Given the description of an element on the screen output the (x, y) to click on. 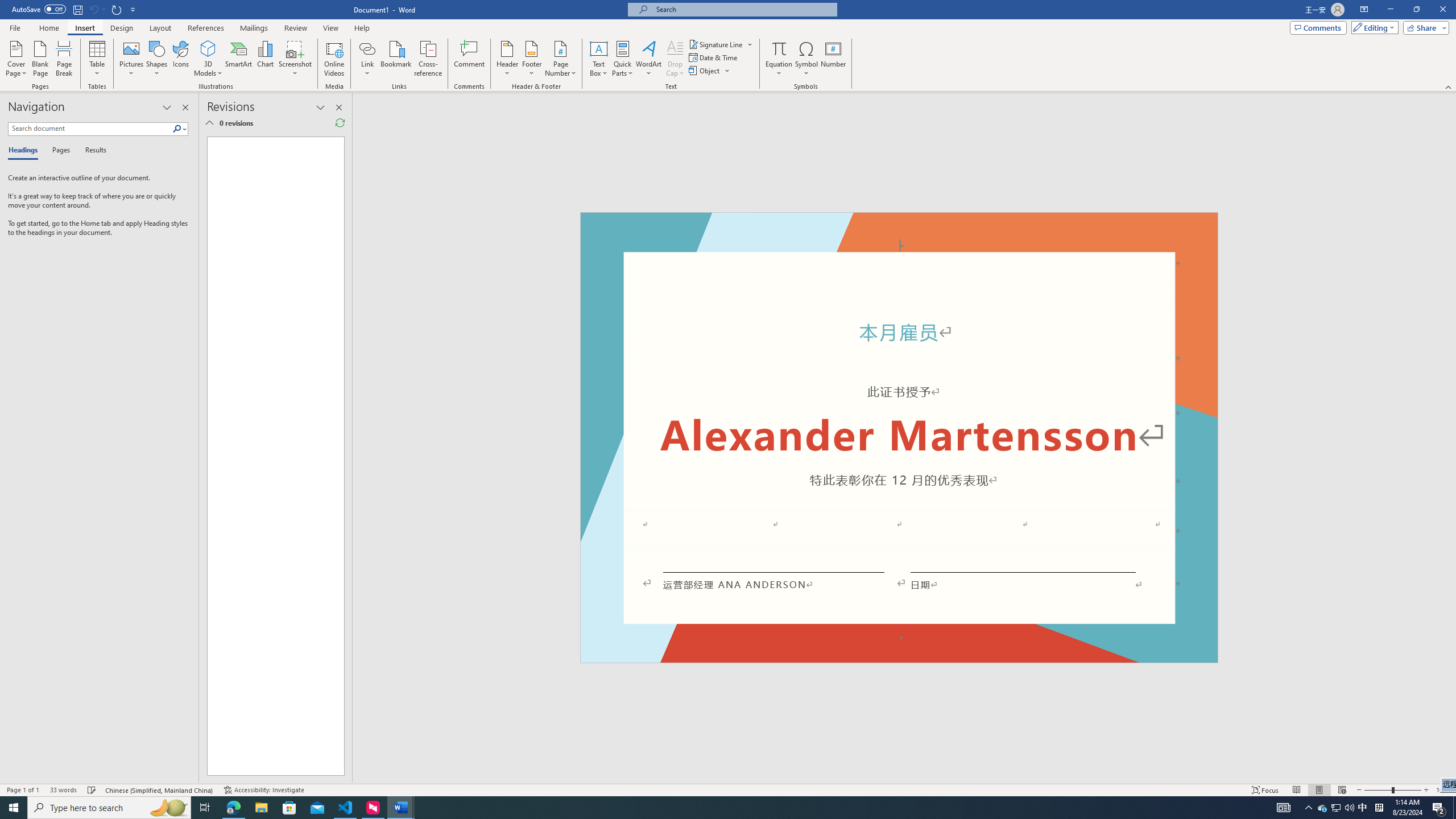
Blank Page (40, 58)
Header (507, 58)
Cross-reference... (428, 58)
Page 1 content (898, 445)
Link (367, 48)
Table (97, 58)
Page Number (560, 58)
WordArt (648, 58)
Footer (531, 58)
Number... (833, 58)
Page Number Page 1 of 1 (22, 790)
